Given the description of an element on the screen output the (x, y) to click on. 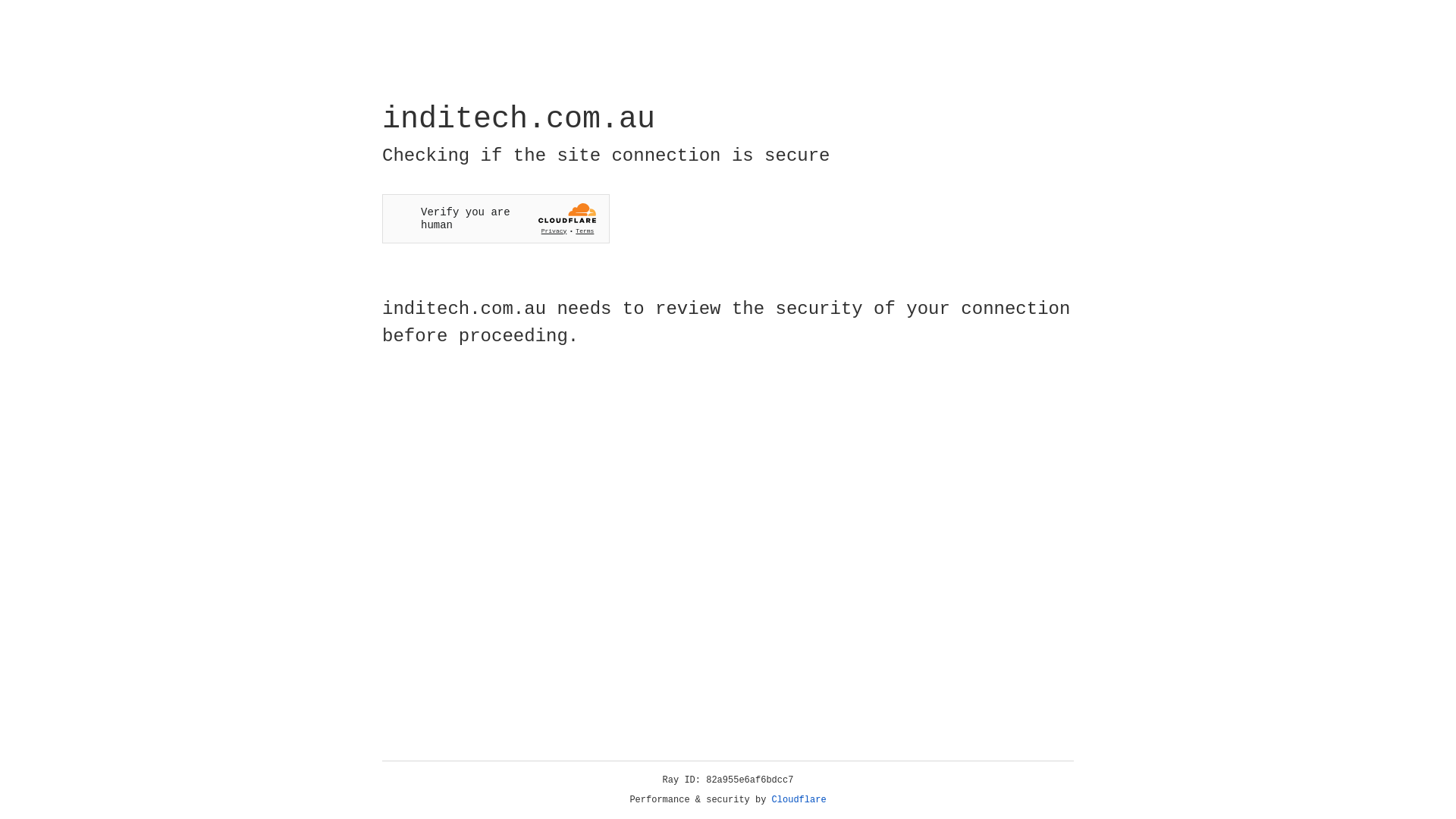
Cloudflare Element type: text (798, 799)
Widget containing a Cloudflare security challenge Element type: hover (495, 218)
